Given the description of an element on the screen output the (x, y) to click on. 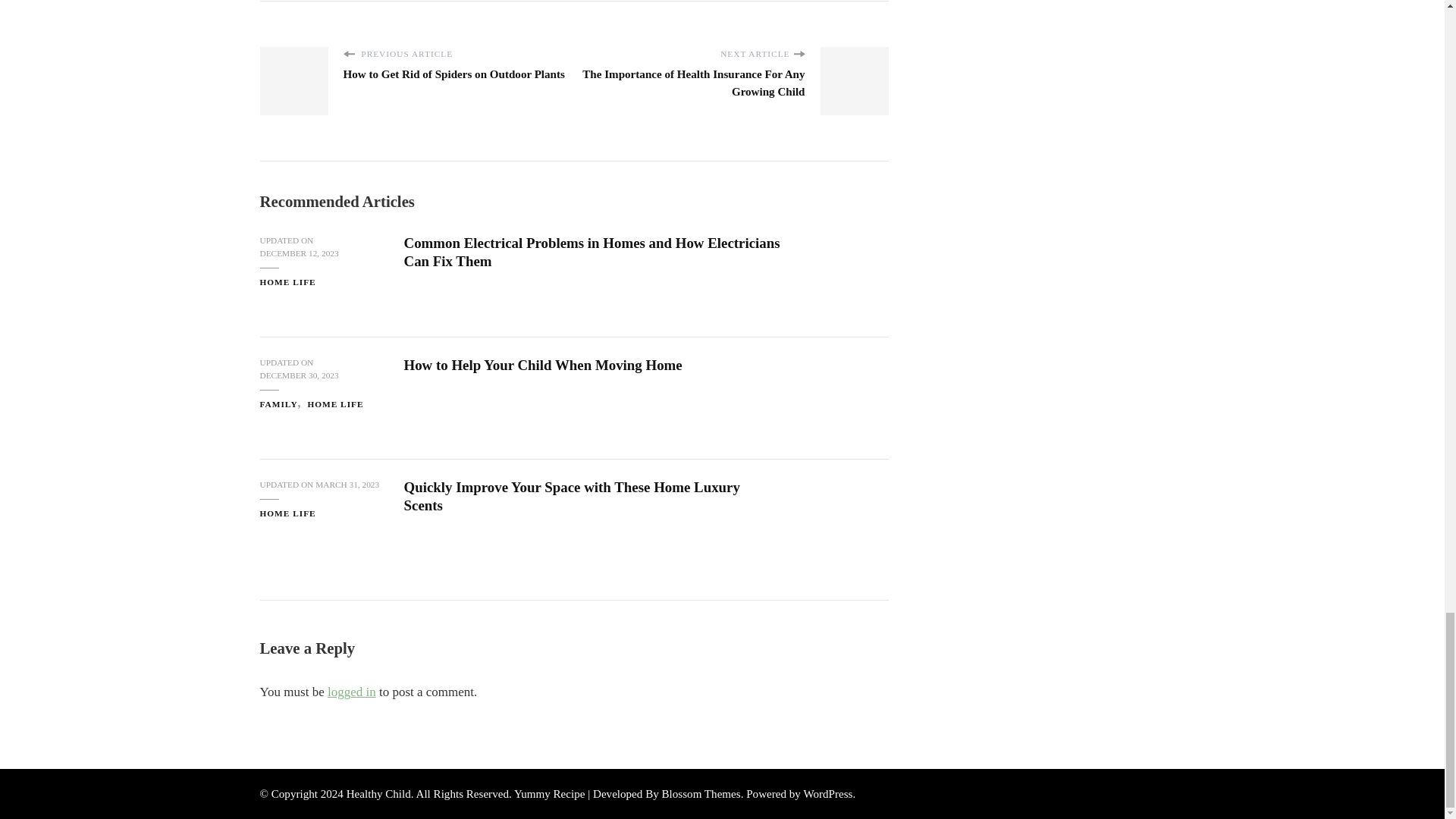
Quickly Improve Your Space with These Home Luxury Scents (571, 495)
HOME LIFE (287, 513)
HOME LIFE (287, 282)
HOME LIFE (334, 404)
DECEMBER 12, 2023 (298, 253)
DECEMBER 30, 2023 (298, 375)
MARCH 31, 2023 (346, 484)
How to Help Your Child When Moving Home (542, 365)
FAMILY (281, 404)
